Given the description of an element on the screen output the (x, y) to click on. 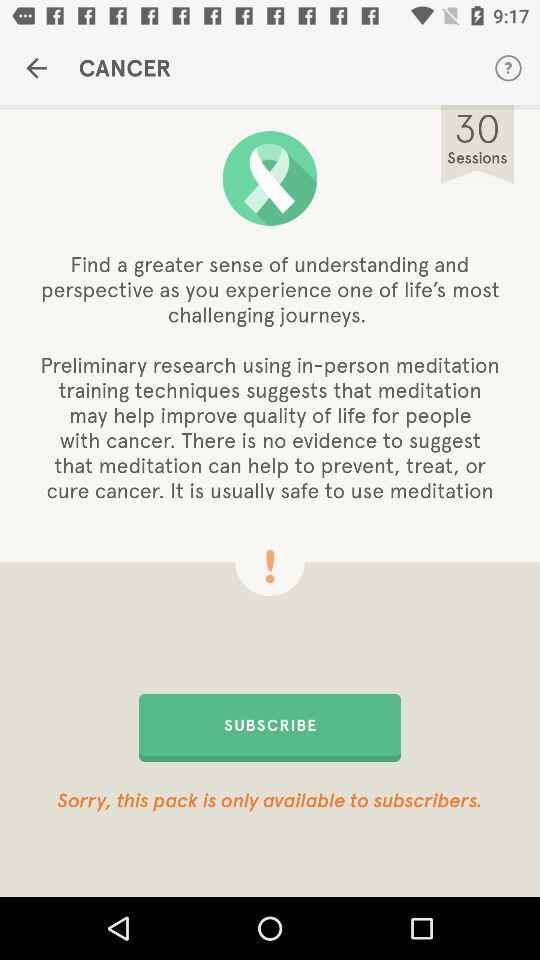
select the item above sorry this pack (269, 727)
